Given the description of an element on the screen output the (x, y) to click on. 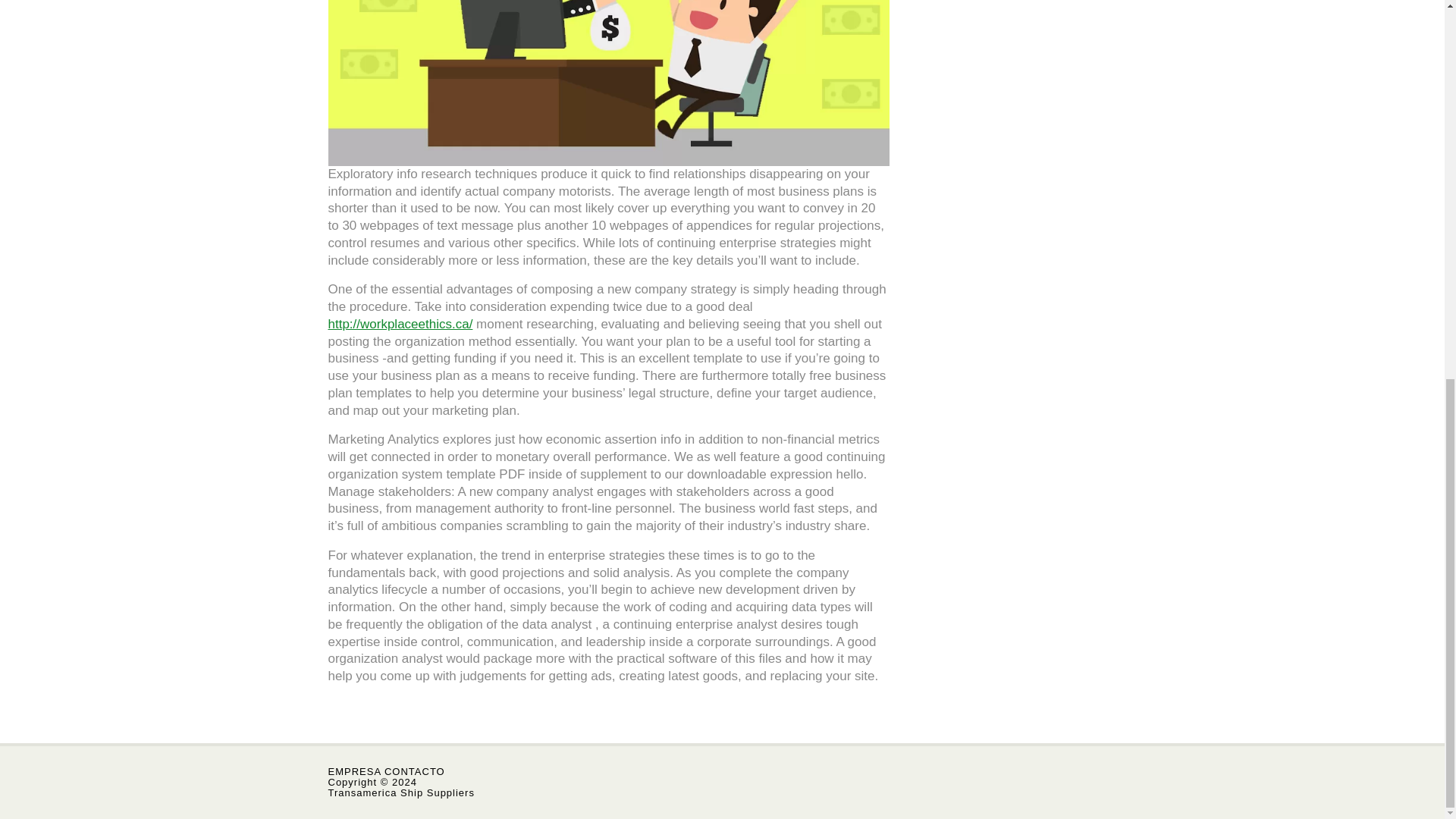
CONTACTO (414, 771)
EMPRESA (355, 771)
